Given the description of an element on the screen output the (x, y) to click on. 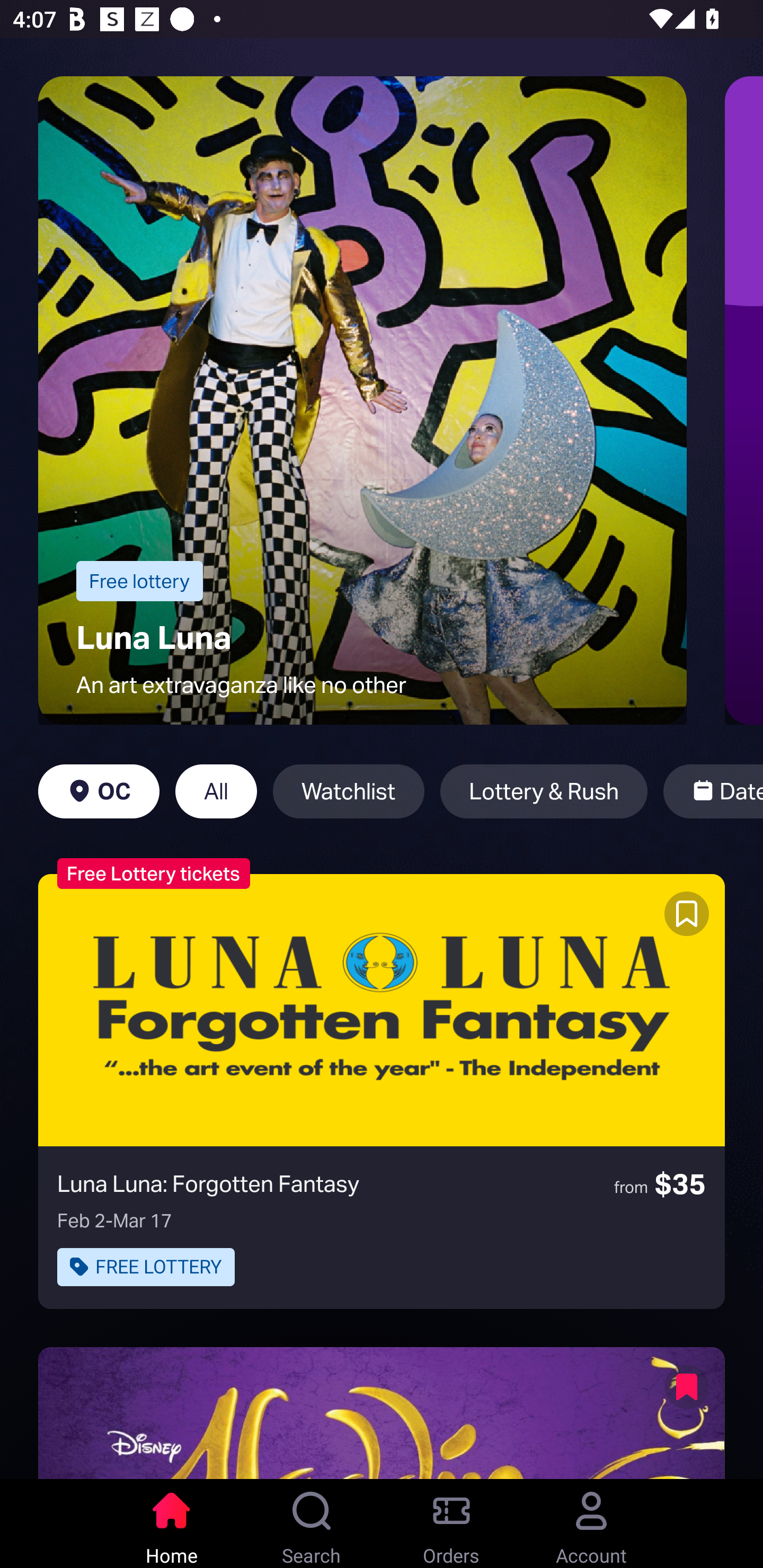
OC (98, 791)
All (216, 791)
Watchlist (348, 791)
Lottery & Rush (543, 791)
Search (311, 1523)
Orders (451, 1523)
Account (591, 1523)
